Given the description of an element on the screen output the (x, y) to click on. 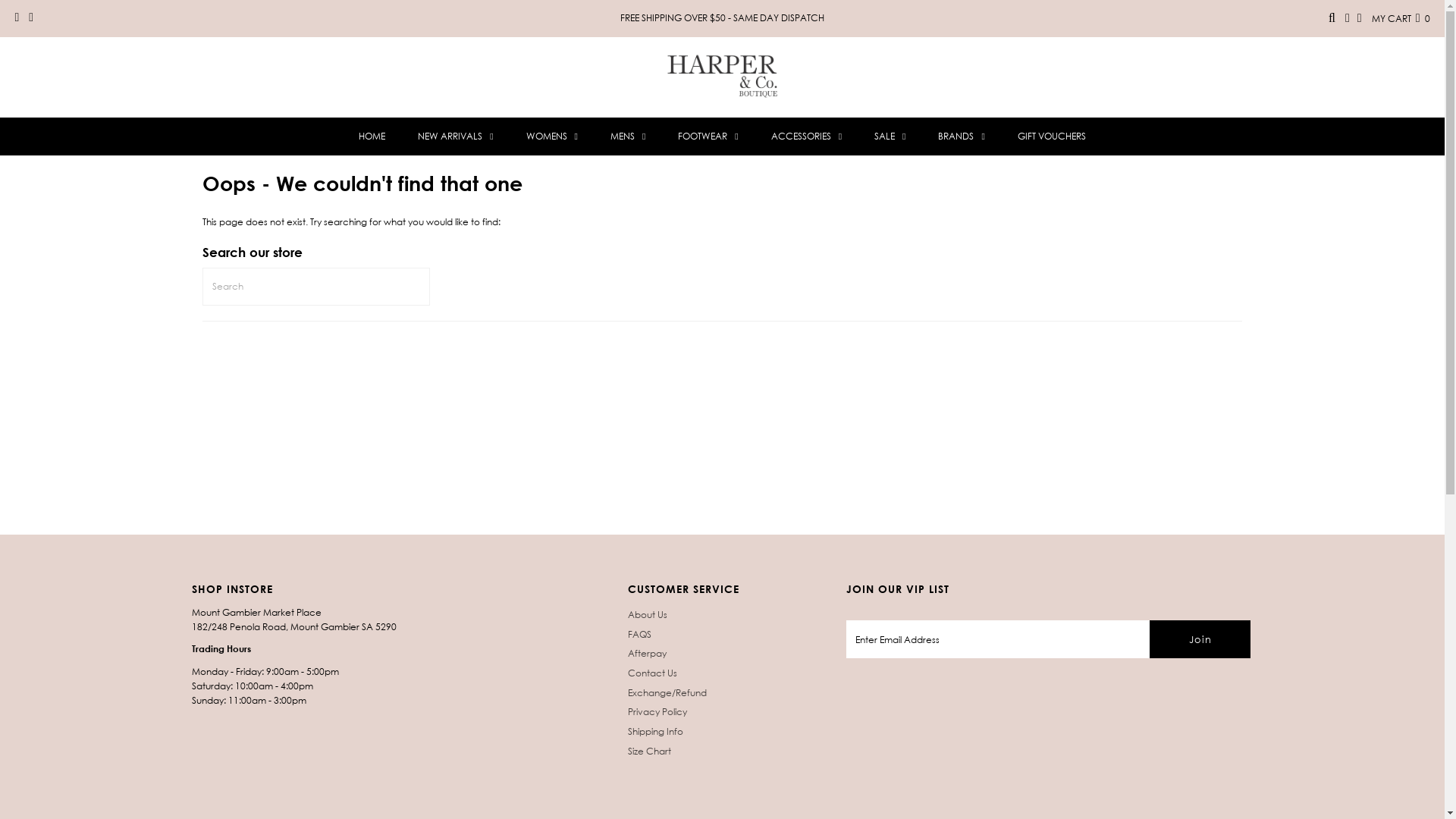
MY CART    0 Element type: text (1400, 18)
SALE Element type: text (889, 136)
WOMENS Element type: text (552, 136)
FOOTWEAR Element type: text (707, 136)
Contact Us Element type: text (652, 672)
FAQS Element type: text (639, 634)
Shipping Info Element type: text (655, 731)
ACCESSORIES Element type: text (806, 136)
Privacy Policy Element type: text (657, 711)
BRANDS Element type: text (960, 136)
Afterpay Element type: text (646, 652)
GIFT VOUCHERS Element type: text (1051, 136)
HOME Element type: text (371, 136)
MENS Element type: text (627, 136)
About Us Element type: text (647, 614)
Size Chart Element type: text (649, 750)
NEW ARRIVALS Element type: text (455, 136)
Join Element type: text (1199, 639)
Exchange/Refund Element type: text (666, 692)
